Given the description of an element on the screen output the (x, y) to click on. 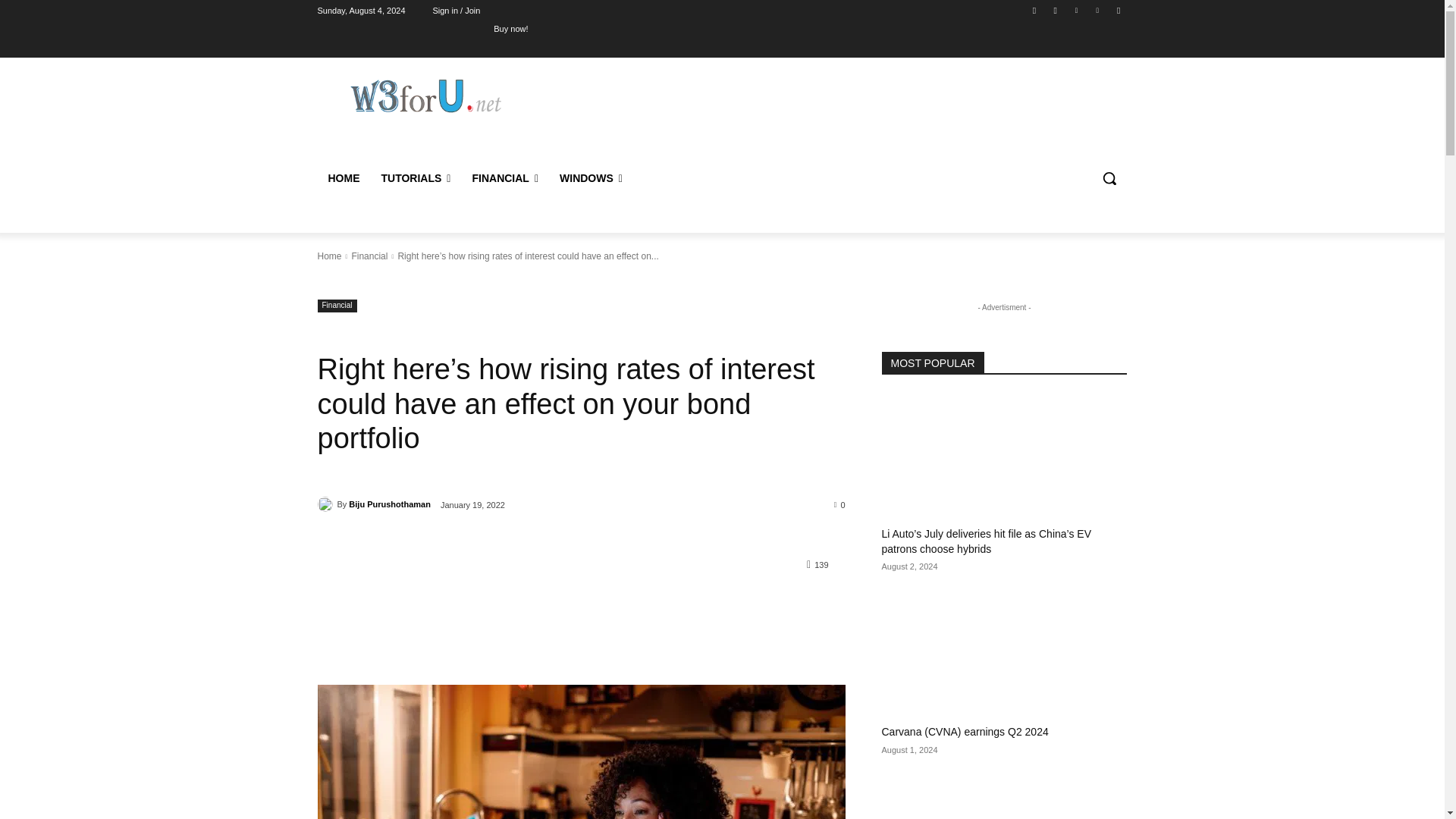
Buy now! (510, 28)
Facebook (1034, 9)
TUTORIALS (415, 177)
Twitter (1075, 9)
HOME (343, 177)
Youtube (1117, 9)
Vimeo (1097, 9)
Instagram (1055, 9)
